Given the description of an element on the screen output the (x, y) to click on. 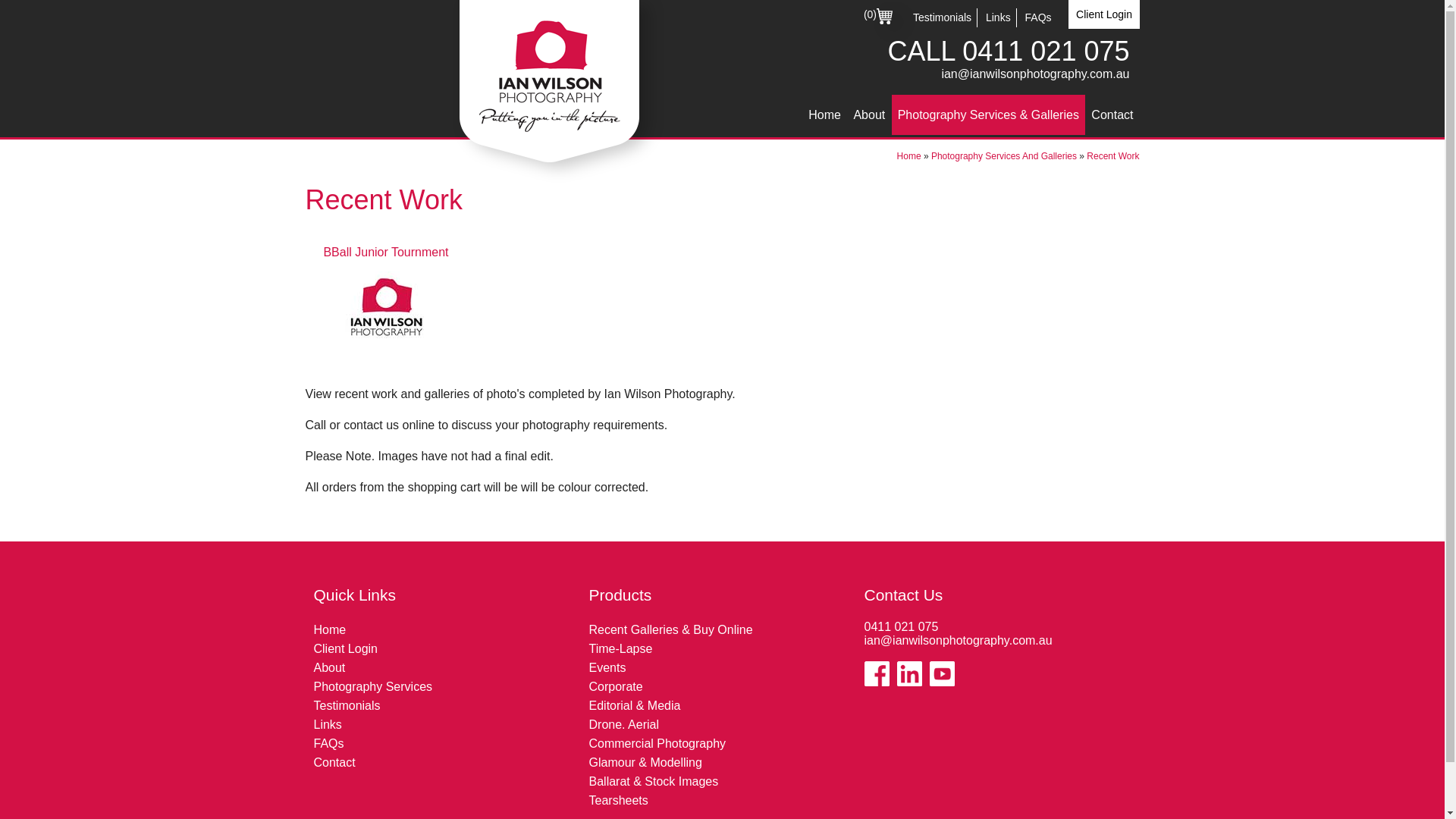
Home Element type: text (909, 155)
Like us on Facebook Element type: hover (876, 673)
Corporate Element type: text (615, 686)
Links Element type: text (998, 17)
View our Youtube Channel Element type: hover (941, 673)
ian@ianwilsonphotography.com.au Element type: text (1035, 73)
Contact Element type: text (334, 762)
FAQs Element type: text (1038, 17)
Links Element type: text (327, 724)
(0) Element type: text (877, 19)
0411 021 075 Element type: text (1045, 50)
Client Login Element type: text (345, 648)
Photography Services And Galleries Element type: text (1003, 155)
About Element type: text (329, 667)
Editorial & Media Element type: text (634, 705)
Recent Work Element type: text (1112, 155)
Time-Lapse Element type: text (620, 648)
BBall Junior Tournment Element type: hover (385, 306)
Recent Galleries & Buy Online Element type: text (670, 629)
BBall Junior Tournment Element type: text (385, 302)
Ian Wilson Photography Element type: hover (549, 81)
Tearsheets Element type: text (617, 799)
Home Element type: text (824, 114)
Drone. Aerial Element type: text (623, 724)
Commercial Photography Element type: text (656, 743)
Testimonials Element type: text (941, 17)
Contact Element type: text (1112, 114)
View our Linkedin Page Element type: hover (908, 673)
0411 021 075 Element type: text (901, 626)
Photography Services & Galleries Element type: text (988, 114)
ian@ianwilsonphotography.com.au Element type: text (958, 639)
Cart Element type: hover (884, 16)
Home Element type: text (329, 629)
FAQs Element type: text (328, 743)
Photography Services Element type: text (373, 686)
Events Element type: text (606, 667)
Testimonials Element type: text (346, 705)
About Element type: text (869, 114)
Ballarat & Stock Images Element type: text (653, 781)
Client Login Element type: text (1103, 14)
Glamour & Modelling Element type: text (644, 762)
Freelance Photography Element type: hover (515, 235)
